Given the description of an element on the screen output the (x, y) to click on. 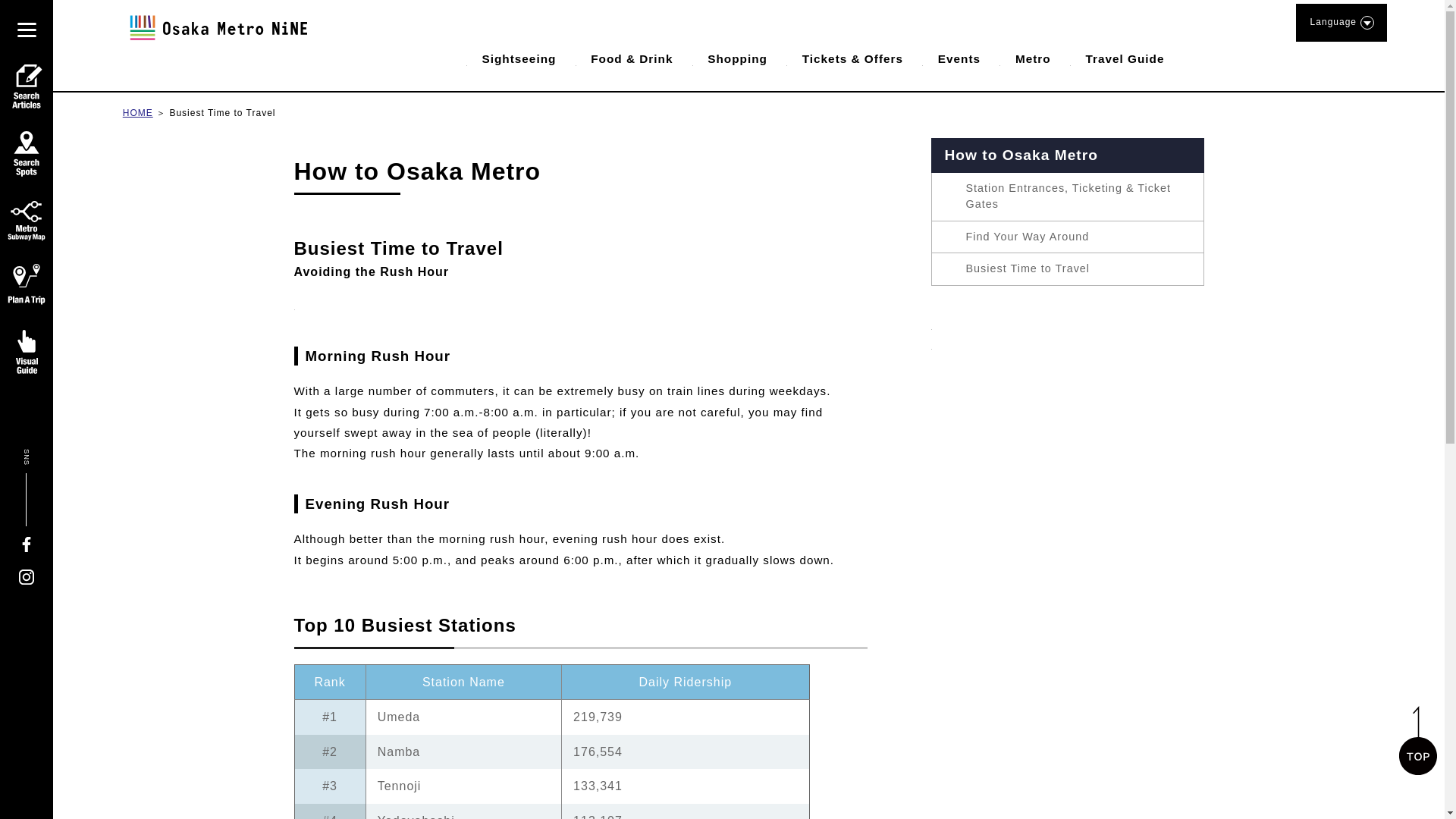
Shopping (725, 58)
Metro (1021, 58)
Search Articles (26, 86)
Search Spots (26, 153)
Events (947, 58)
Page TOP (1418, 739)
Travel Guide (1112, 58)
Metro Subway Map (26, 219)
Visual Guide (26, 352)
Language (1341, 22)
Osaka Metro NiNE (216, 39)
Sightseeing (508, 58)
Osaka Metro NiNE (216, 27)
Plan A Trip (26, 286)
